Given the description of an element on the screen output the (x, y) to click on. 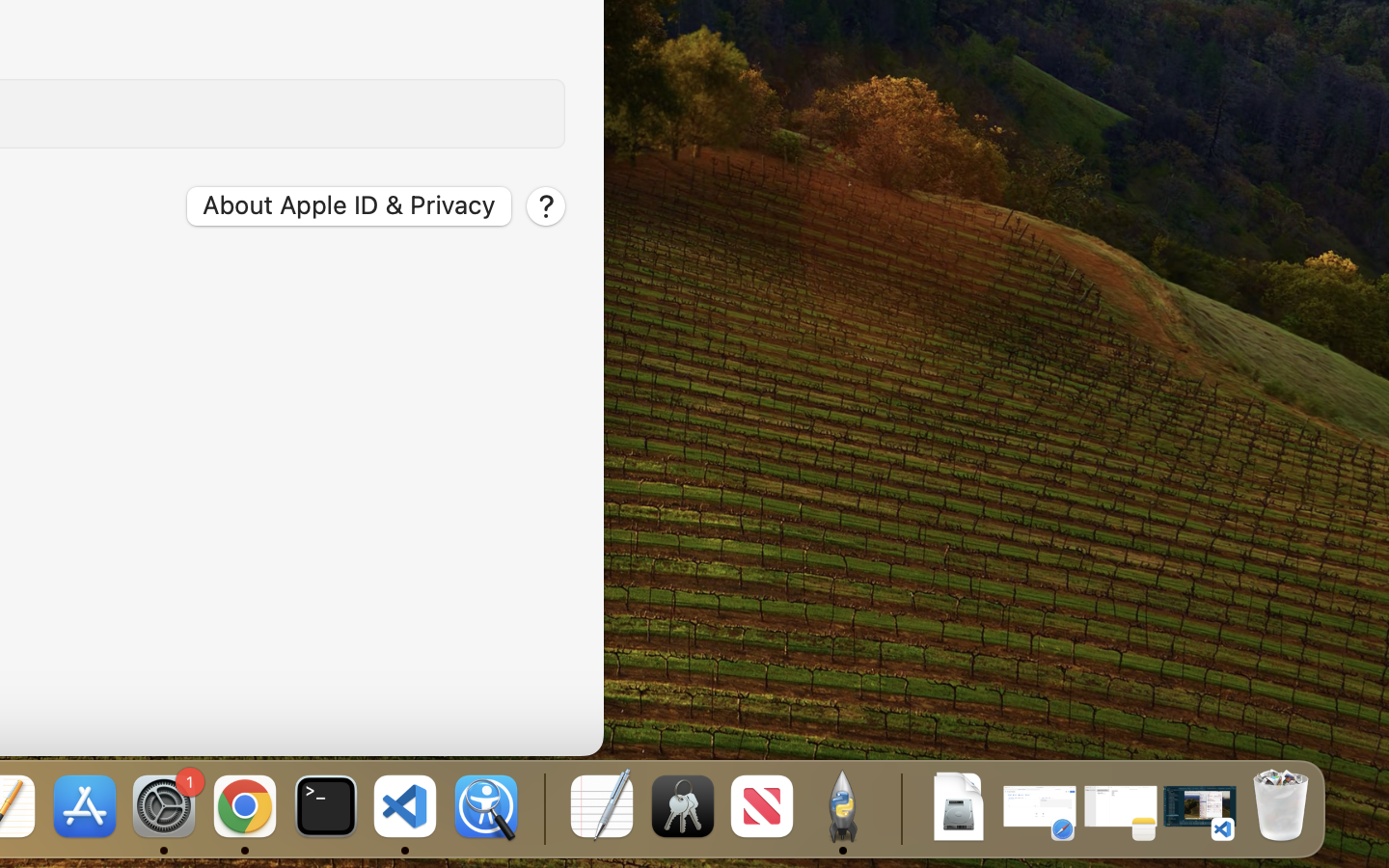
0.4285714328289032 Element type: AXDockItem (541, 807)
